Given the description of an element on the screen output the (x, y) to click on. 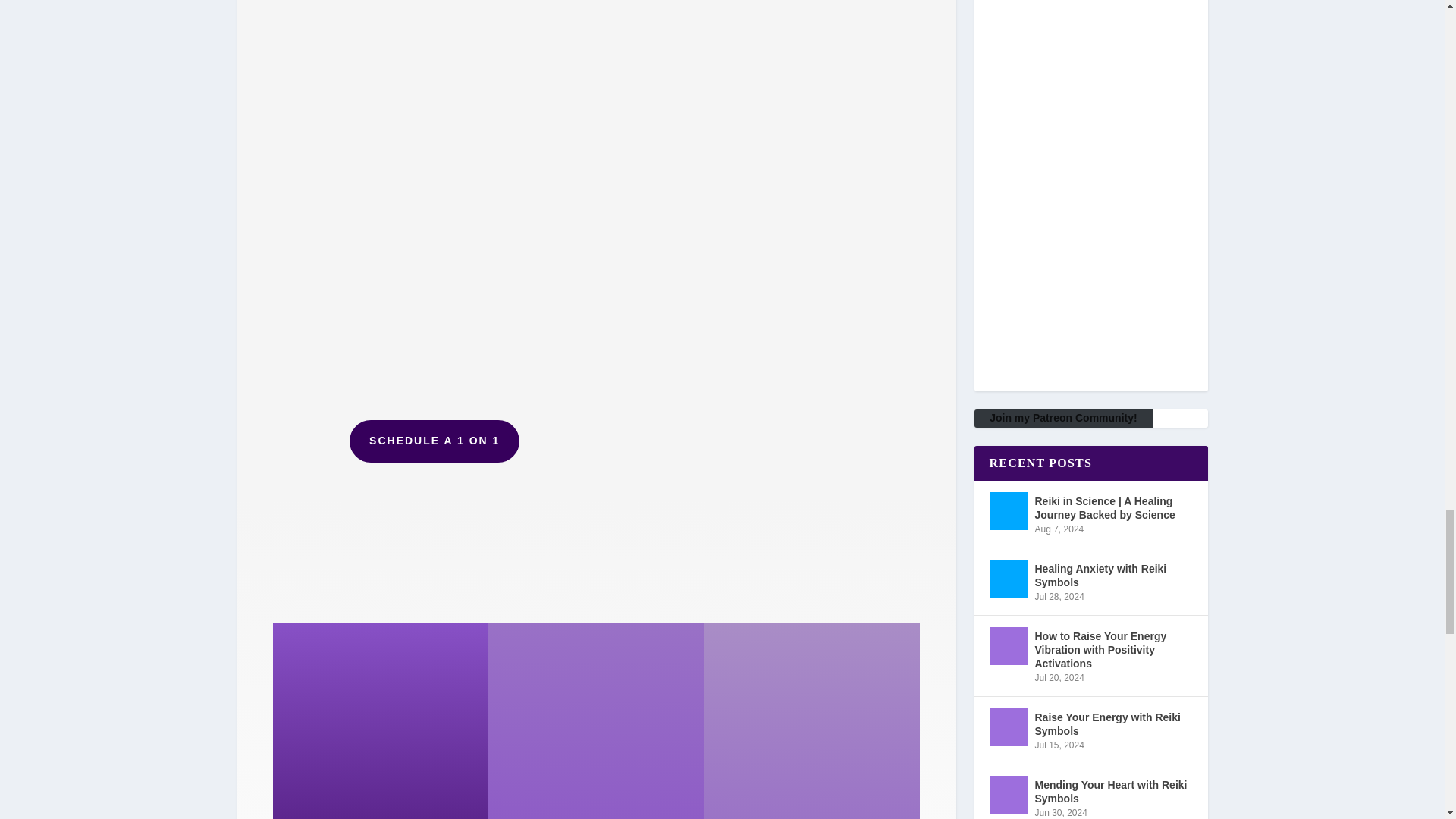
Healing Anxiety with Reiki Symbols (1007, 578)
Mending Your Heart with Reiki Symbols (1007, 794)
Raise Your Energy with Reiki Symbols (1007, 727)
